Given the description of an element on the screen output the (x, y) to click on. 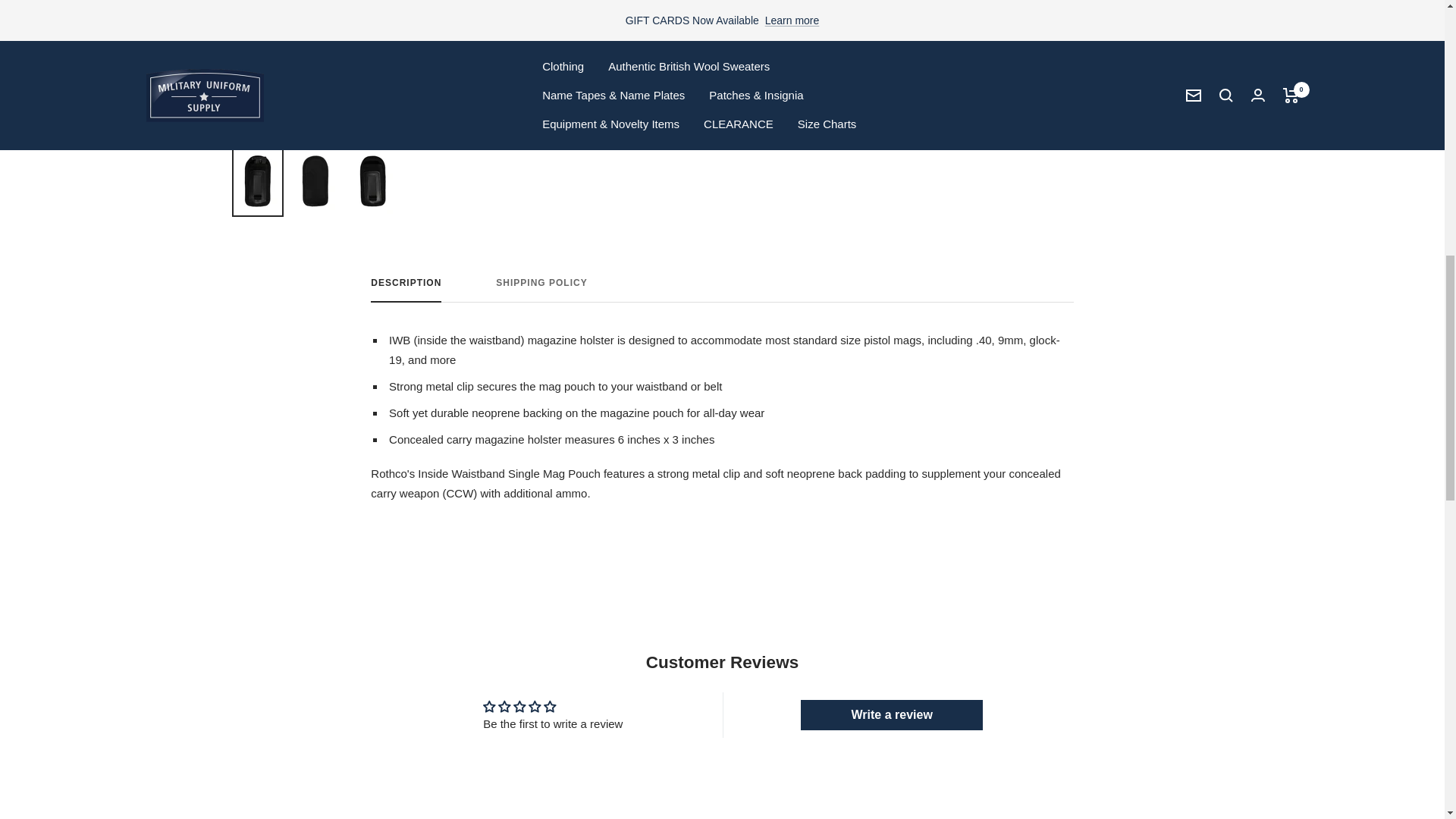
Zoom (686, 102)
